Given the description of an element on the screen output the (x, y) to click on. 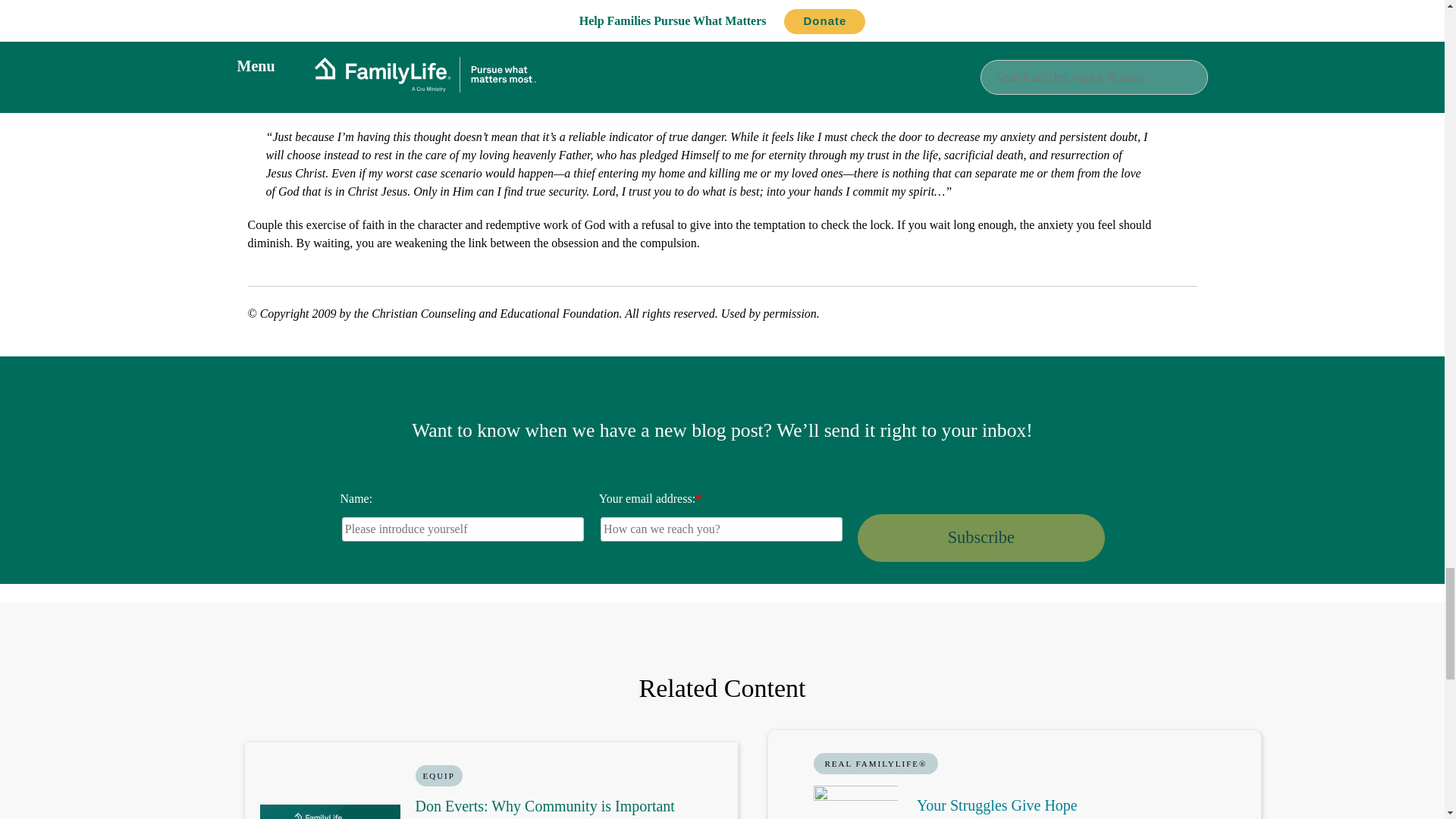
How can we reach you? (721, 528)
Your Struggles Give Hope (997, 805)
EQUIP (438, 775)
click to join (980, 537)
Don Everts: Why Community is Important (544, 805)
Please introduce yourself (462, 528)
Subscribe (980, 537)
